Given the description of an element on the screen output the (x, y) to click on. 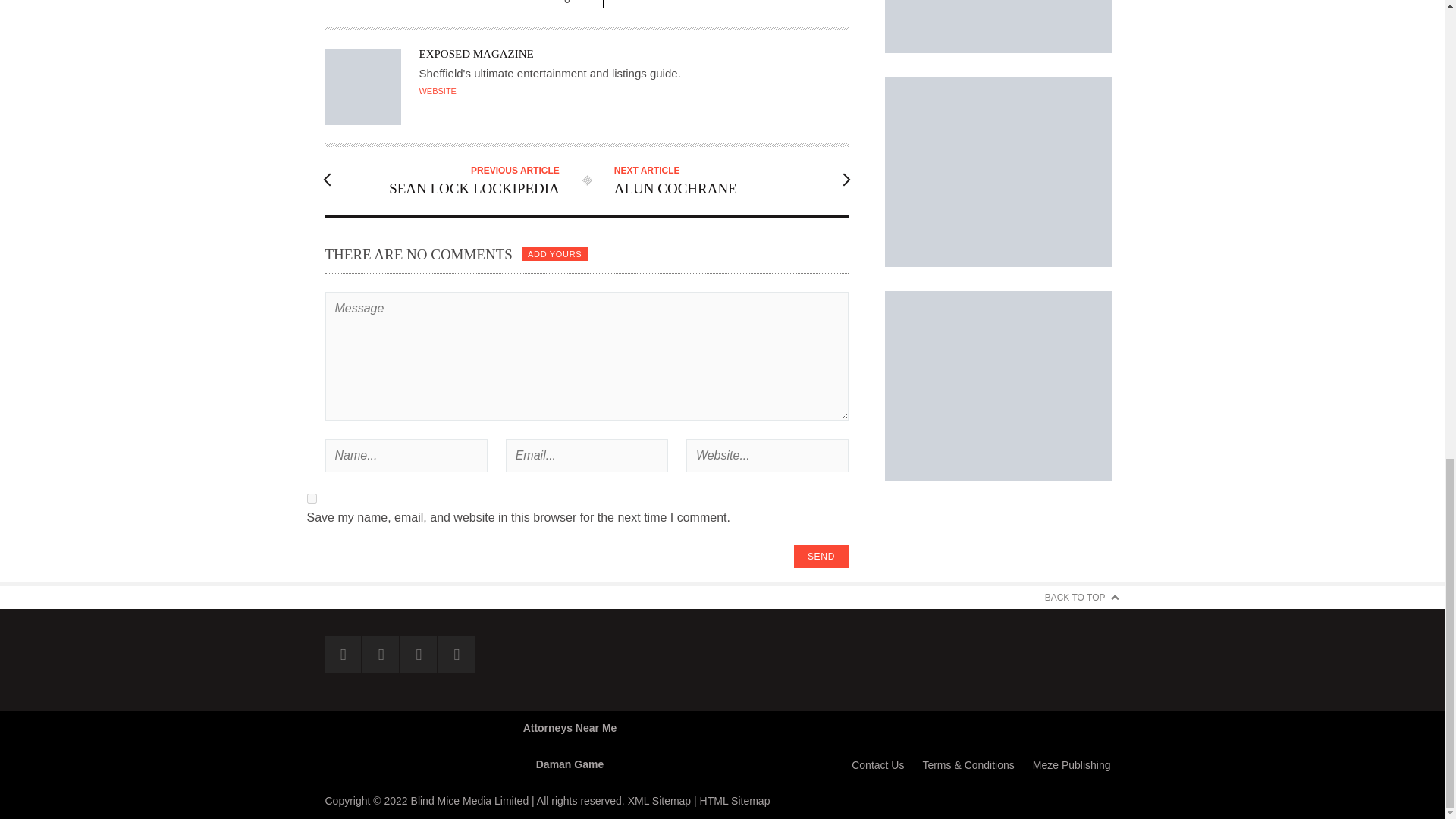
Posts by Exposed Magazine (475, 53)
yes (310, 498)
Send (820, 556)
